Given the description of an element on the screen output the (x, y) to click on. 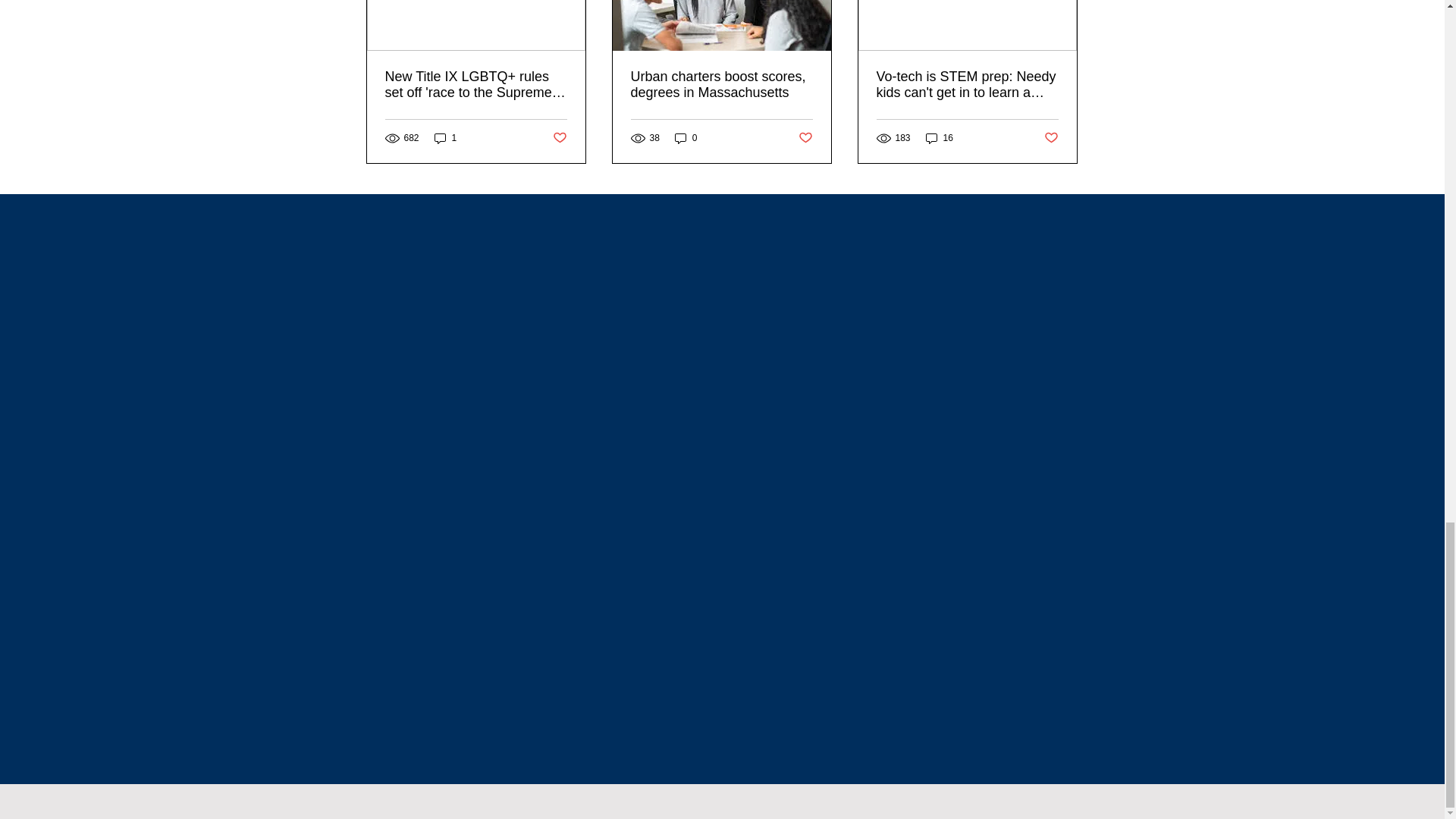
0 (685, 137)
Post not marked as liked (1050, 138)
16 (939, 137)
Post not marked as liked (558, 138)
1 (445, 137)
Urban charters boost scores, degrees in Massachusetts (721, 84)
Post not marked as liked (804, 138)
